Given the description of an element on the screen output the (x, y) to click on. 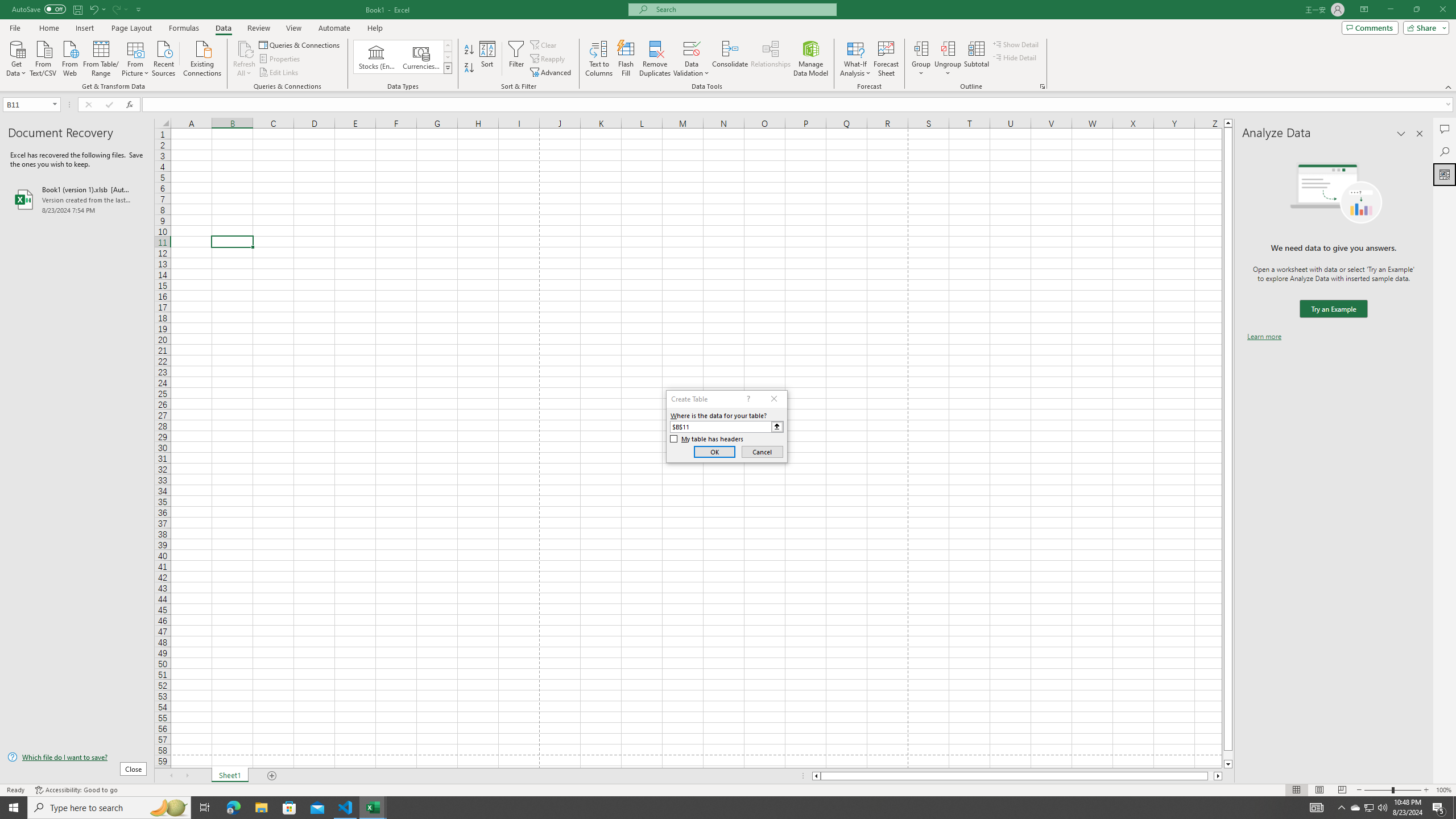
Properties (280, 58)
AutoSave (38, 9)
Refresh All (244, 48)
Microsoft search (742, 9)
We need data to give you answers. Try an Example (1333, 308)
Existing Connections (202, 57)
Currencies (English) (420, 56)
